Given the description of an element on the screen output the (x, y) to click on. 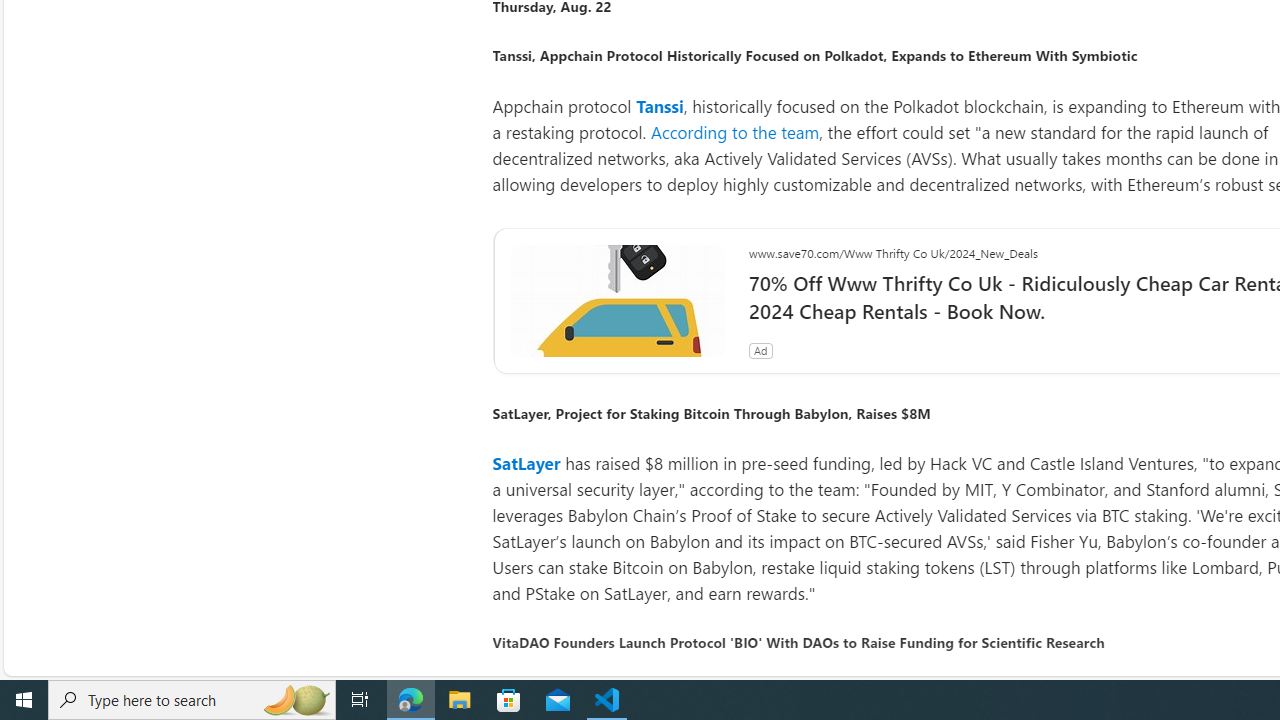
SatLayer (525, 463)
According to the team (735, 131)
Tanssi (659, 105)
